Given the description of an element on the screen output the (x, y) to click on. 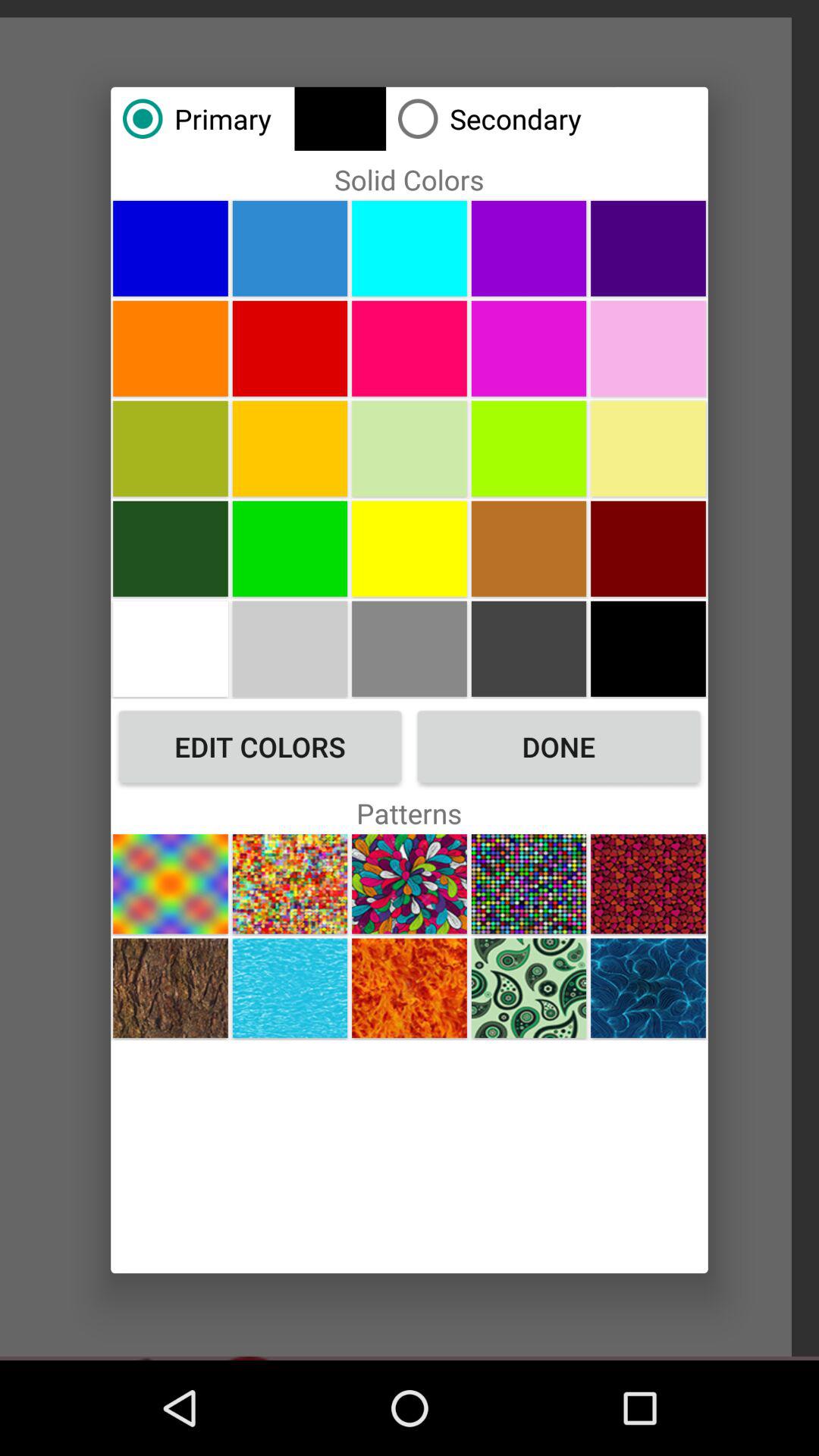
select color (289, 648)
